Given the description of an element on the screen output the (x, y) to click on. 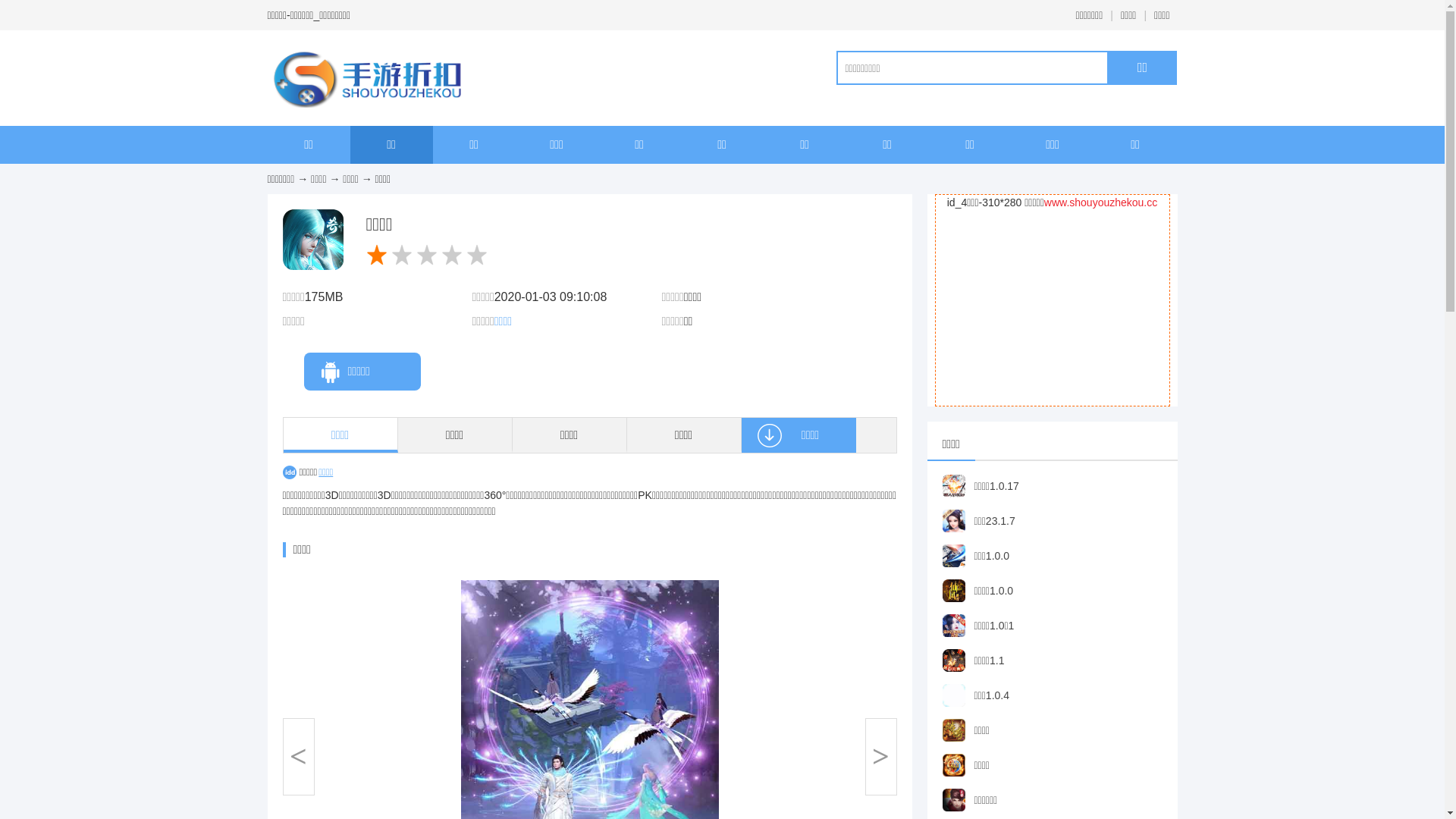
www.shouyouzhekou.cc Element type: text (1100, 202)
